Given the description of an element on the screen output the (x, y) to click on. 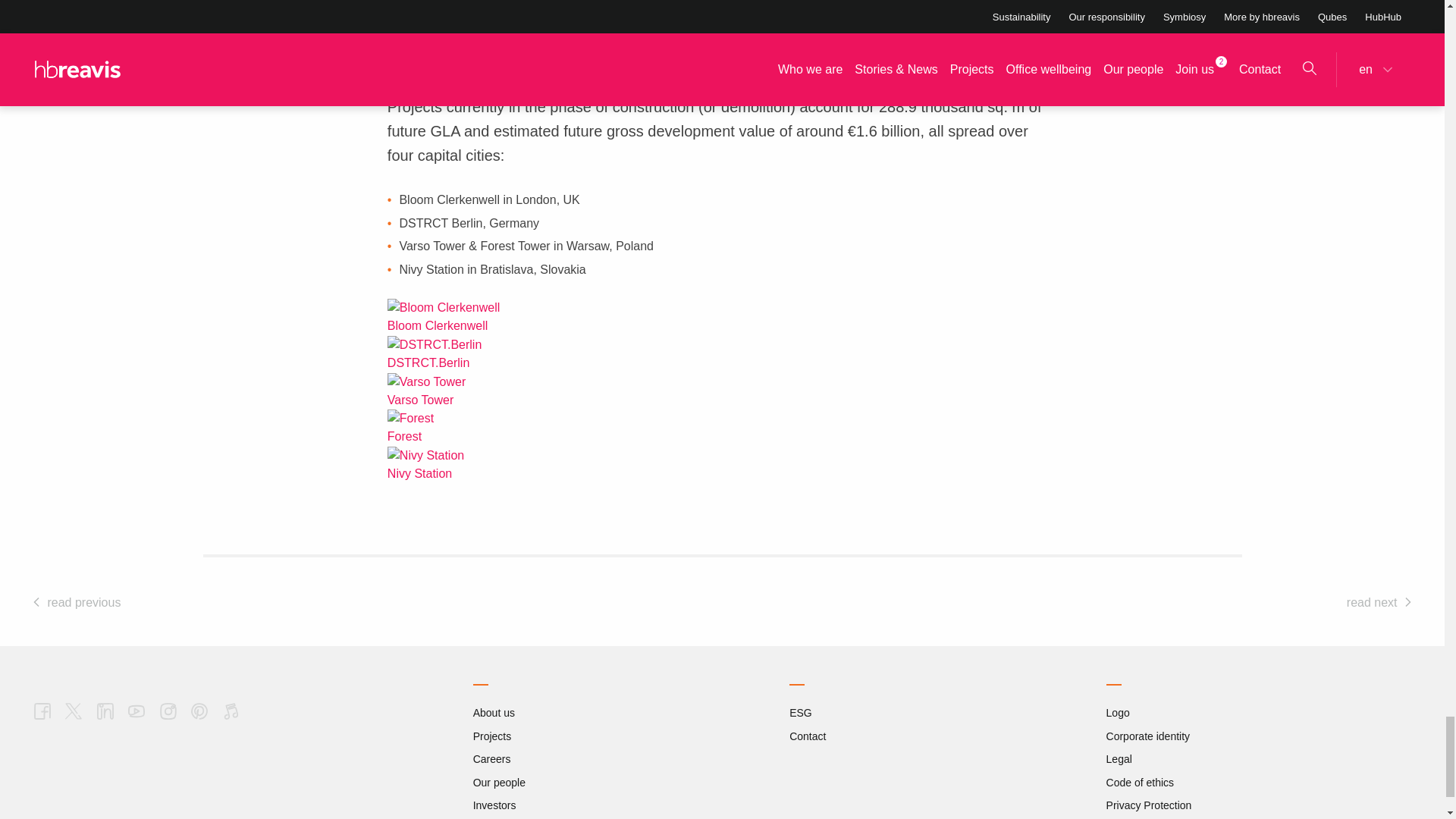
Nivy Station (425, 455)
Varso Tower (426, 382)
DSTRCT.Berlin (434, 344)
Bloom Clerkenwell  (443, 307)
Forest  (410, 418)
